Given the description of an element on the screen output the (x, y) to click on. 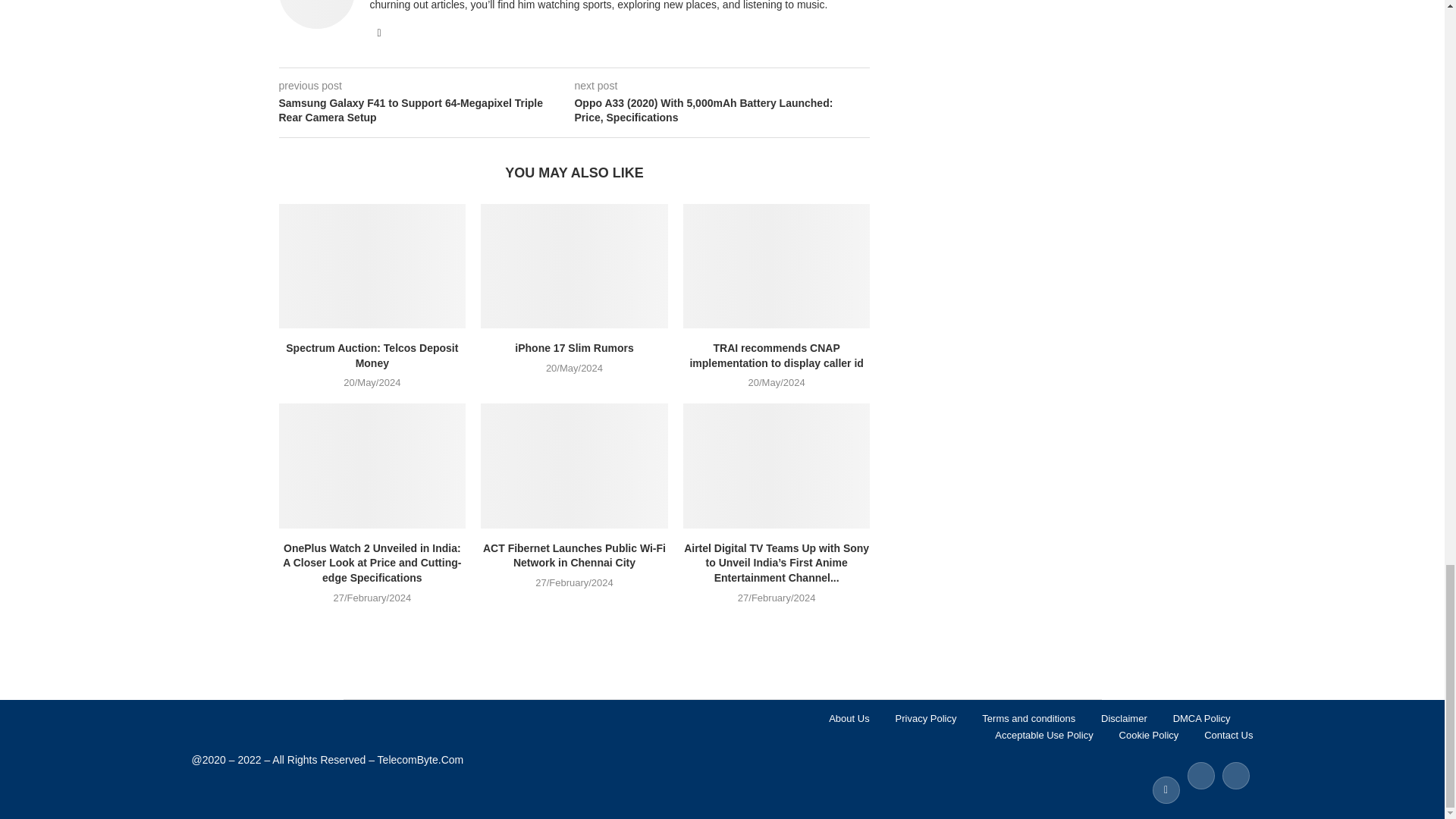
Spectrum Auction: Telcos Deposit Money (372, 265)
ACT Fibernet Launches Public Wi-Fi Network in Chennai City (574, 465)
TRAI recommends CNAP implementation to display caller id (776, 265)
iPhone 17 Slim Rumors (574, 265)
